Given the description of an element on the screen output the (x, y) to click on. 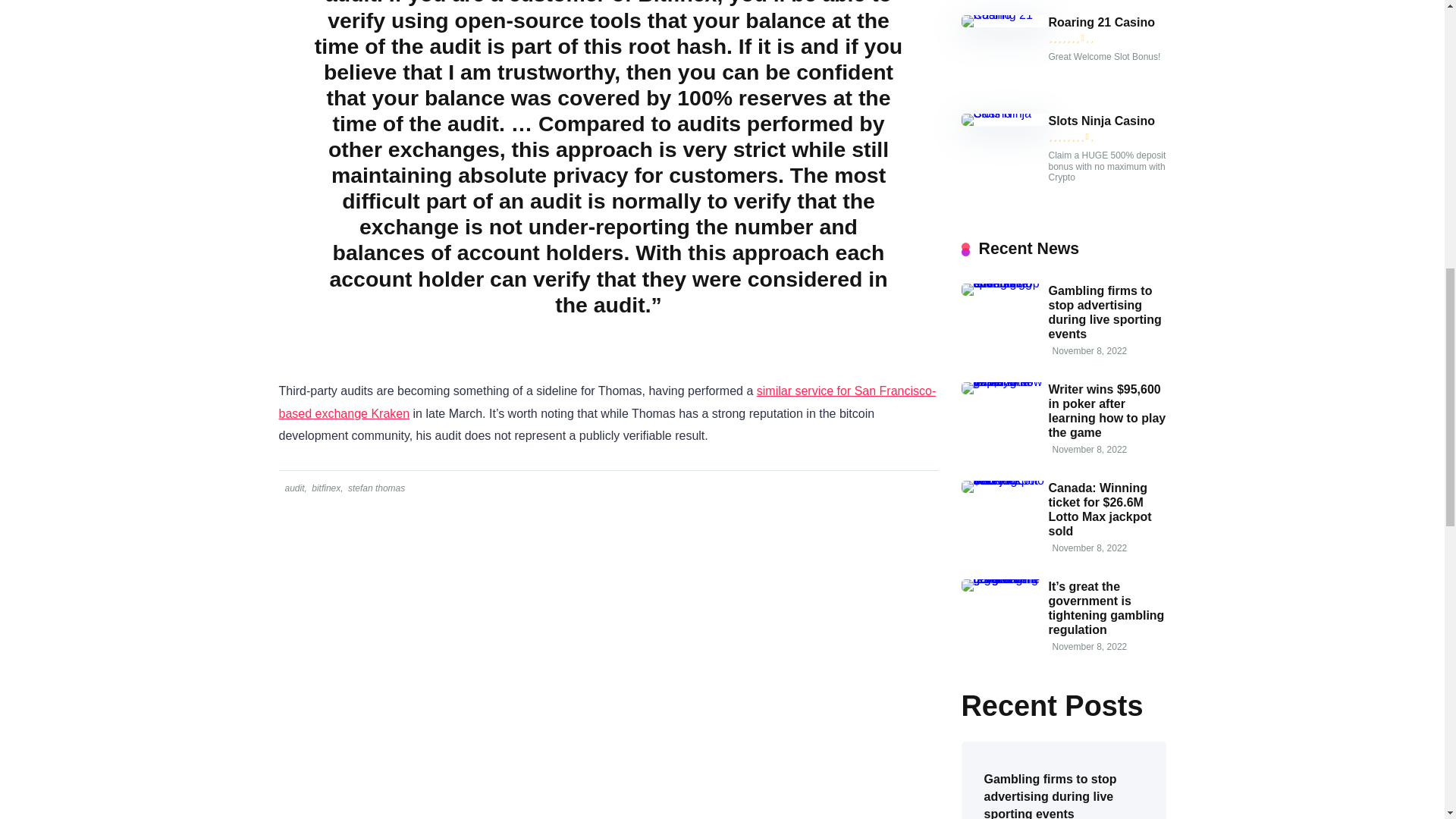
similar service for San Francisco-based exchange Kraken (607, 402)
stefan thomas (375, 488)
Roaring 21 Casino (1101, 22)
Slots Ninja Casino (1004, 113)
Roaring 21 Casino (1004, 14)
audit (293, 488)
Roaring 21 Casino (1101, 22)
bitfinex (324, 488)
Slots Ninja Casino (1101, 120)
Slots Ninja Casino (1101, 120)
